Given the description of an element on the screen output the (x, y) to click on. 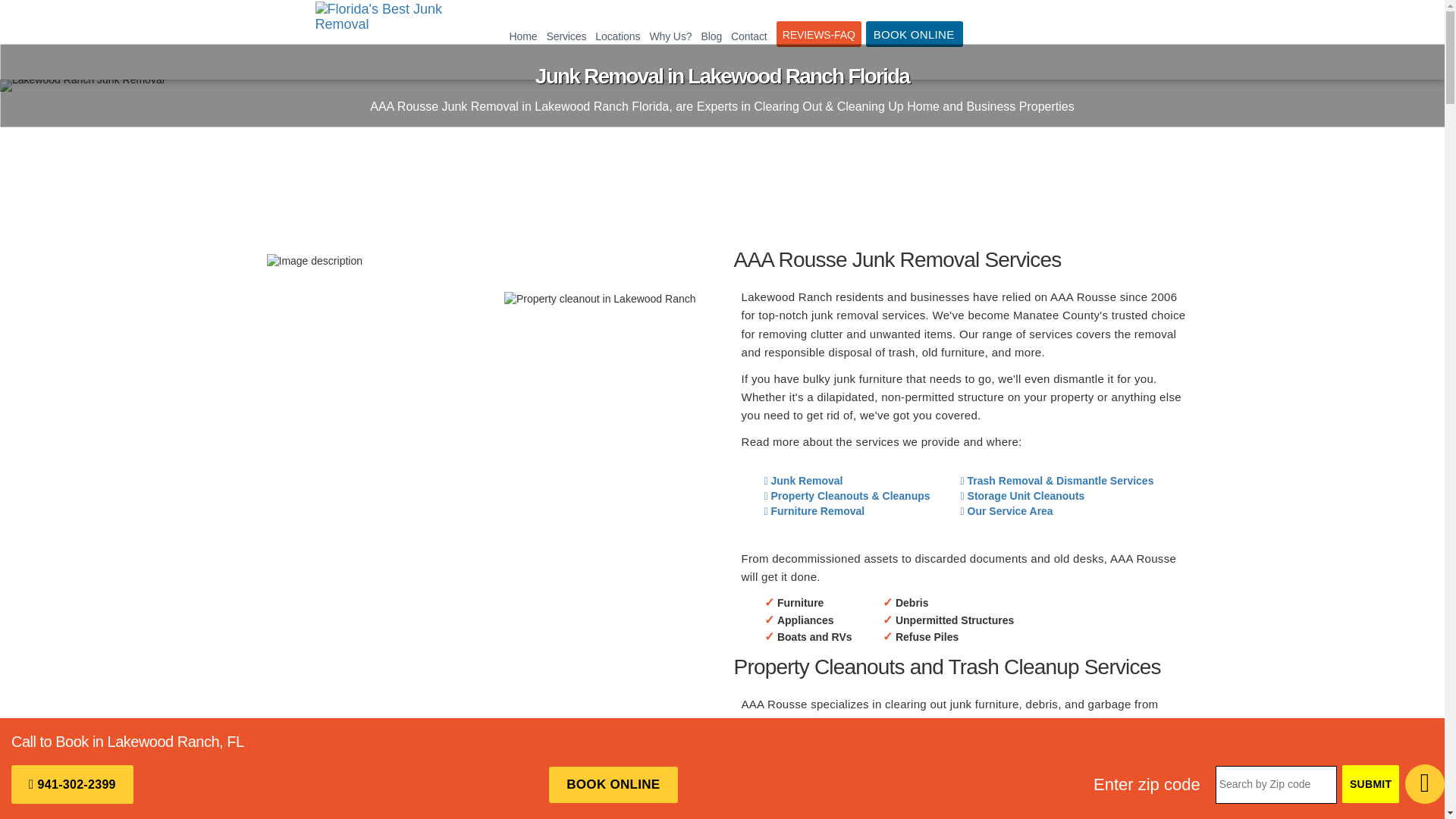
Florida's Best Junk Removal (383, 39)
Contact (748, 36)
Home (523, 36)
Why Us? (670, 36)
SUBMIT (1370, 783)
REVIEWS-FAQ (818, 33)
Services (566, 36)
BOOK ONLINE (914, 33)
Lakewood Ranch Junk Removal (82, 85)
Property cleanout in Lakewood Ranch (599, 299)
Blog (710, 36)
Furniture removal Lakewood Ranch FL (314, 261)
Locations (618, 36)
